Given the description of an element on the screen output the (x, y) to click on. 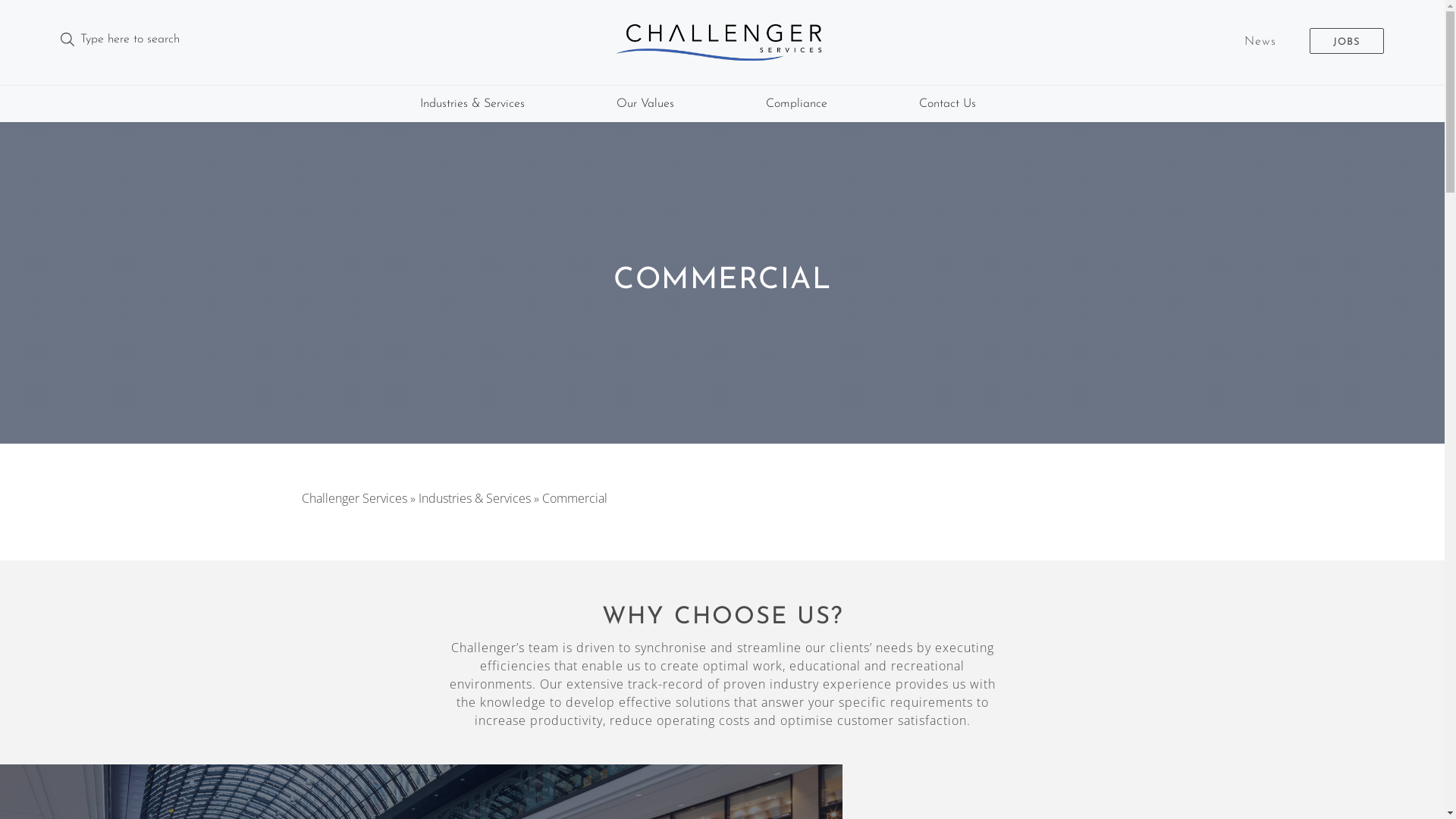
Industries & Services Element type: text (472, 103)
Challenger Services Element type: text (354, 497)
Compliance Element type: text (796, 103)
Contact Us Element type: text (947, 103)
JOBS Element type: text (1346, 40)
Challenger Services Element type: hover (721, 45)
Industries & Services Element type: text (474, 497)
Our Values Element type: text (644, 103)
News Element type: text (1260, 41)
